Given the description of an element on the screen output the (x, y) to click on. 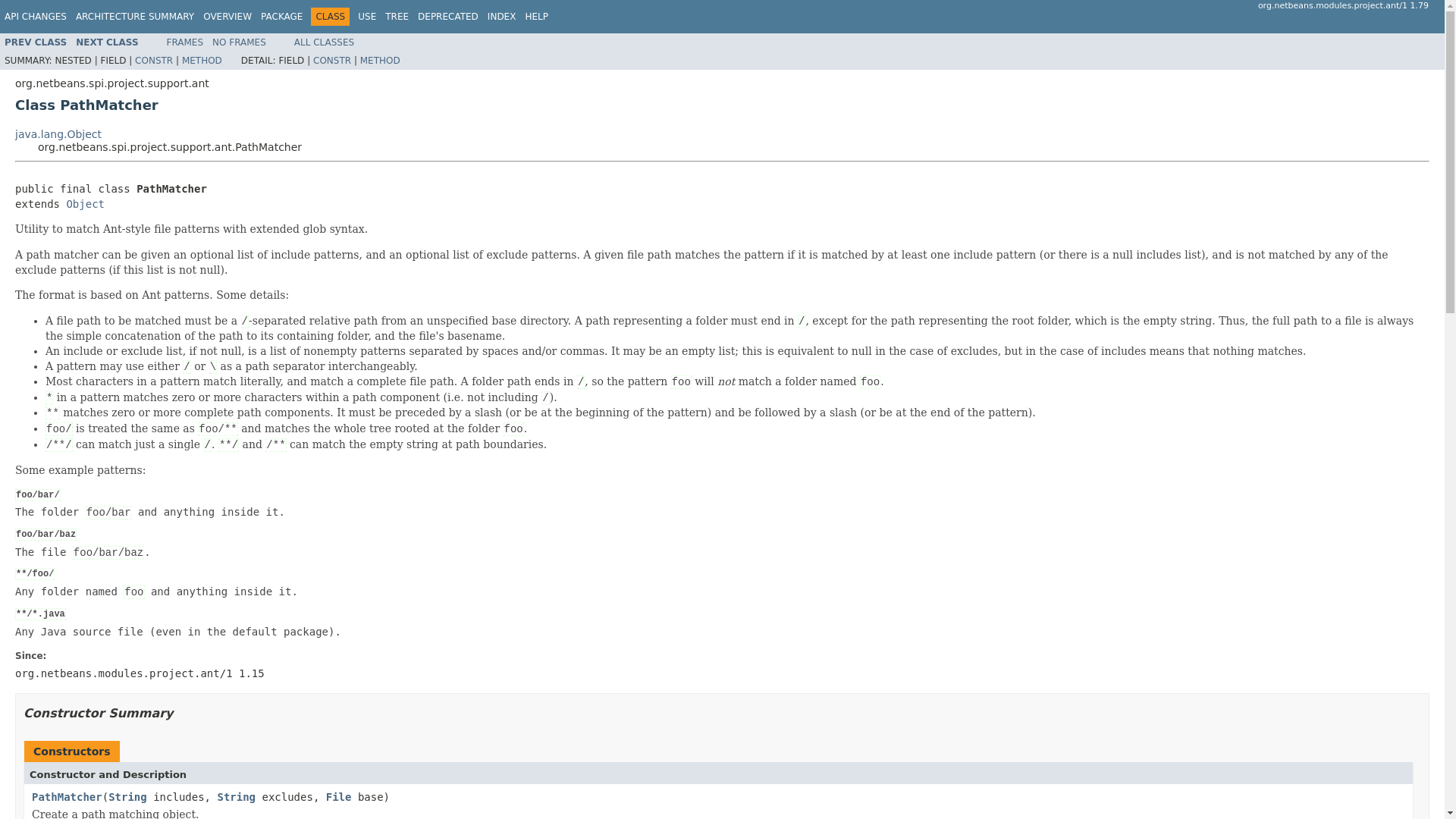
class or interface in java.lang (57, 133)
TREE (397, 16)
CONSTR (331, 60)
INDEX (501, 16)
class in org.netbeans.spi.project.support.ant (106, 41)
Navigation (276, 16)
class or interface in java.lang (236, 797)
PREV CLASS (35, 41)
HELP (536, 16)
NO FRAMES (239, 41)
String (236, 797)
API CHANGES (35, 16)
class or interface in java.io (339, 797)
NEXT CLASS (106, 41)
METHOD (379, 60)
